Given the description of an element on the screen output the (x, y) to click on. 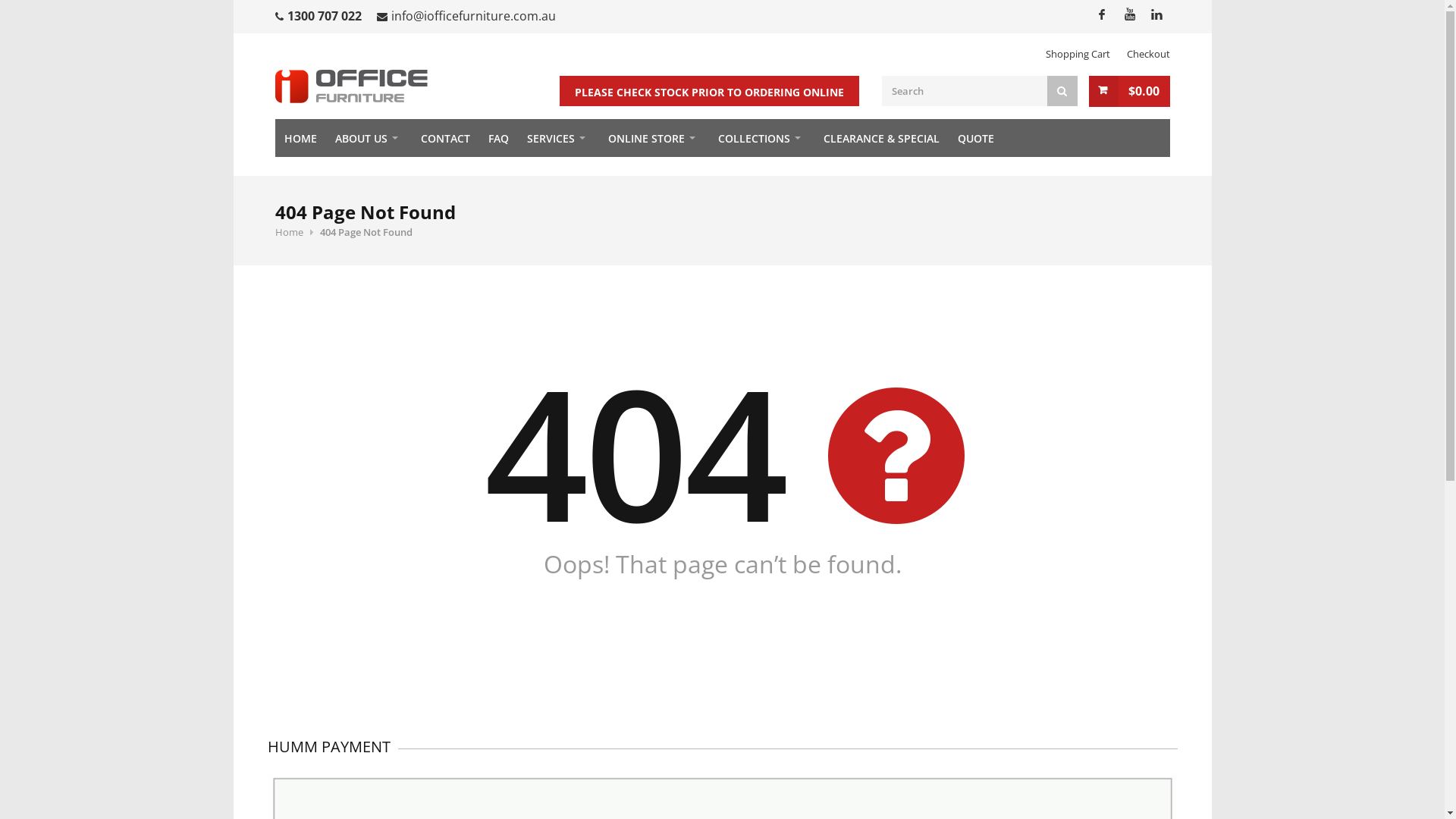
$0.00 Element type: text (1129, 90)
info@iofficefurniture.com.au Element type: text (473, 15)
QUOTE Element type: text (974, 137)
ONLINE STORE Element type: text (654, 137)
SERVICES Element type: text (557, 137)
FAQ Element type: text (498, 137)
Home Element type: text (288, 231)
Youtube Element type: hover (1128, 13)
CONTACT Element type: text (444, 137)
Facebook Element type: hover (1100, 13)
LinkedIn Element type: hover (1155, 13)
HOME Element type: text (299, 137)
Shopping Cart Element type: text (1076, 53)
COLLECTIONS Element type: text (760, 137)
CLEARANCE & SPECIAL Element type: text (881, 137)
ABOUT US Element type: text (368, 137)
Checkout Element type: text (1148, 53)
